Given the description of an element on the screen output the (x, y) to click on. 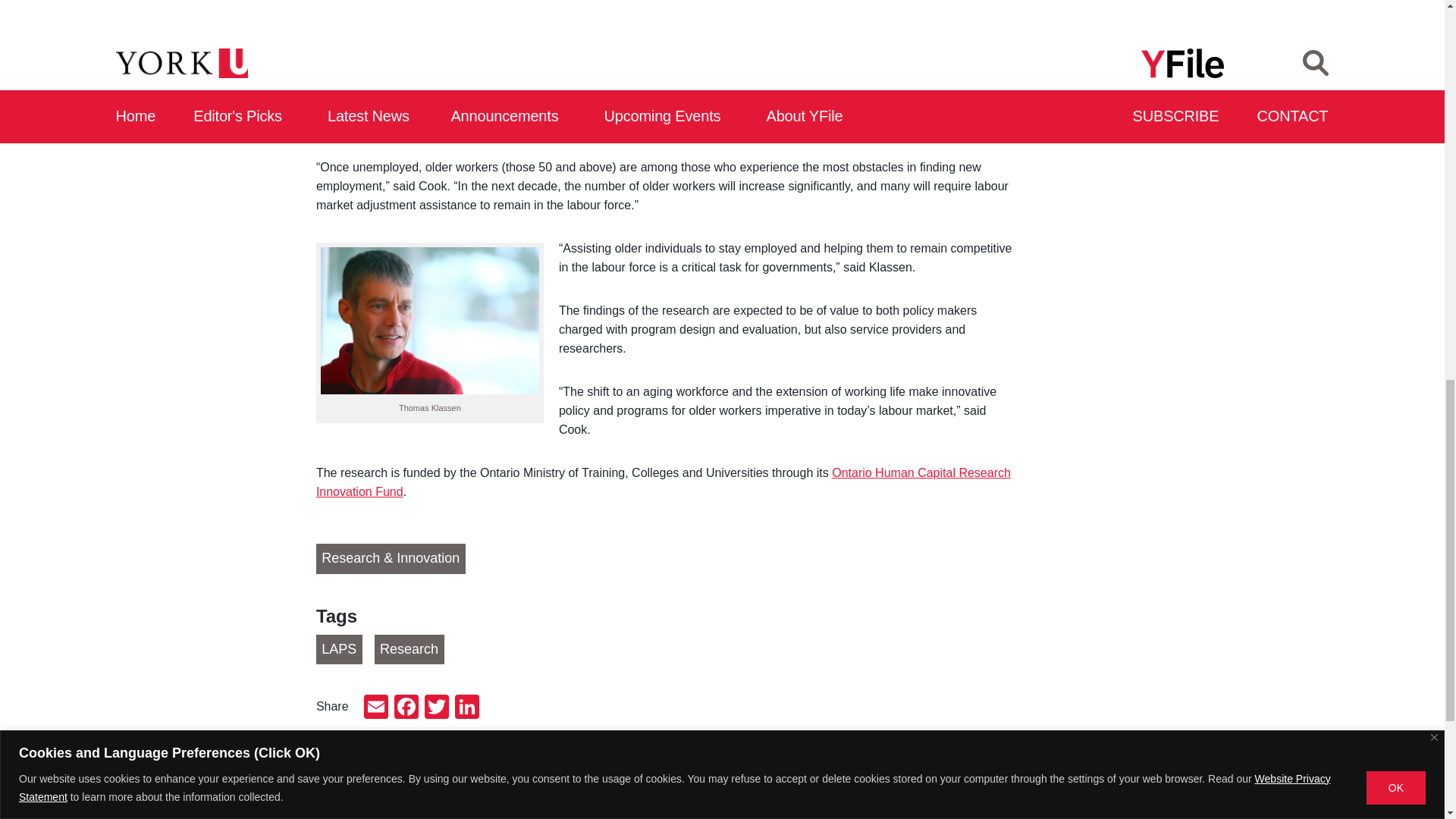
Email (376, 708)
Twitter (436, 708)
Facebook (406, 708)
LinkedIn (466, 708)
